Given the description of an element on the screen output the (x, y) to click on. 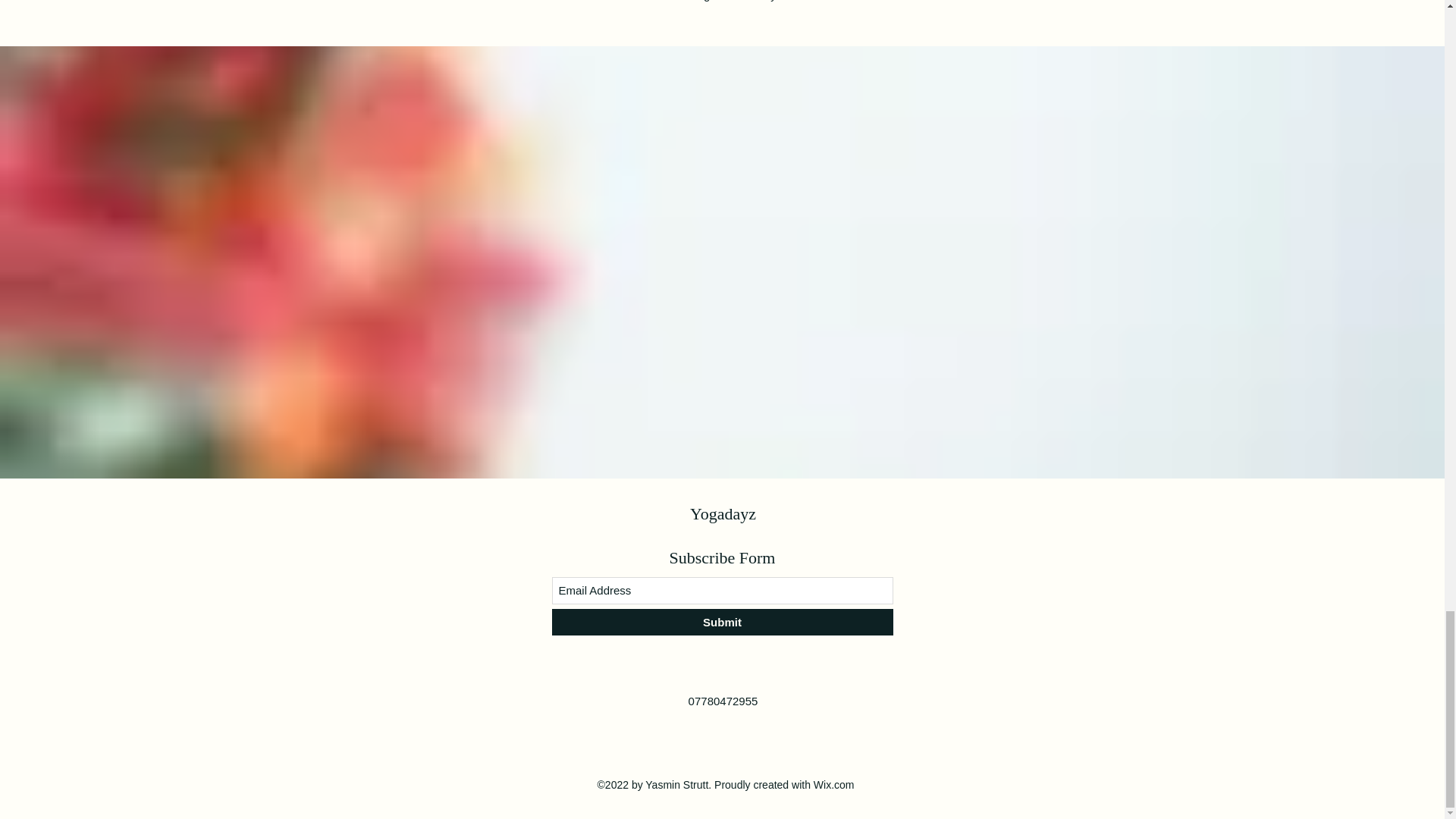
Yogadayz (722, 513)
Submit (722, 622)
